Given the description of an element on the screen output the (x, y) to click on. 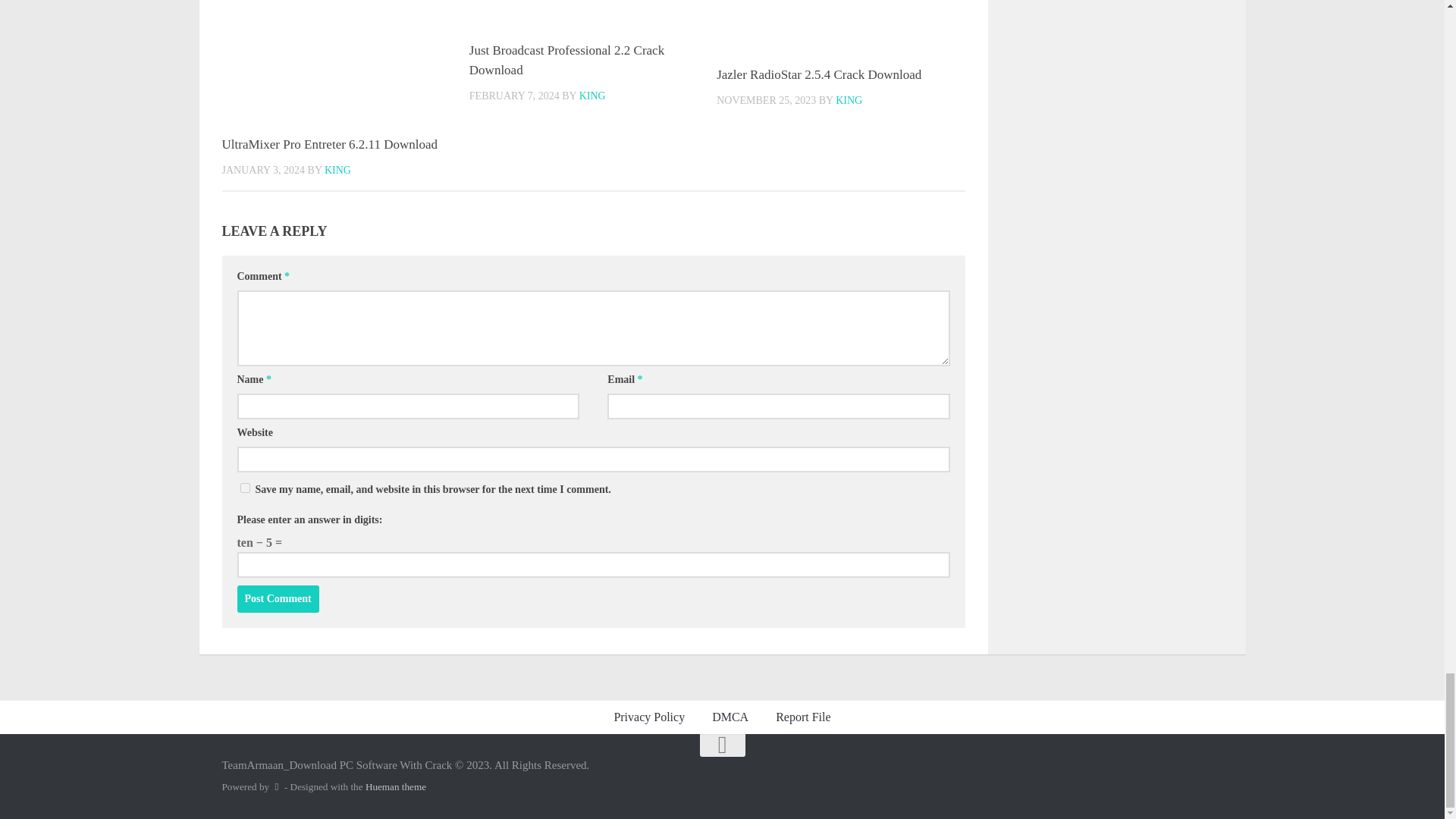
Post Comment (276, 598)
yes (244, 488)
Posts by King (337, 170)
Posts by King (592, 95)
Posts by King (848, 100)
